Given the description of an element on the screen output the (x, y) to click on. 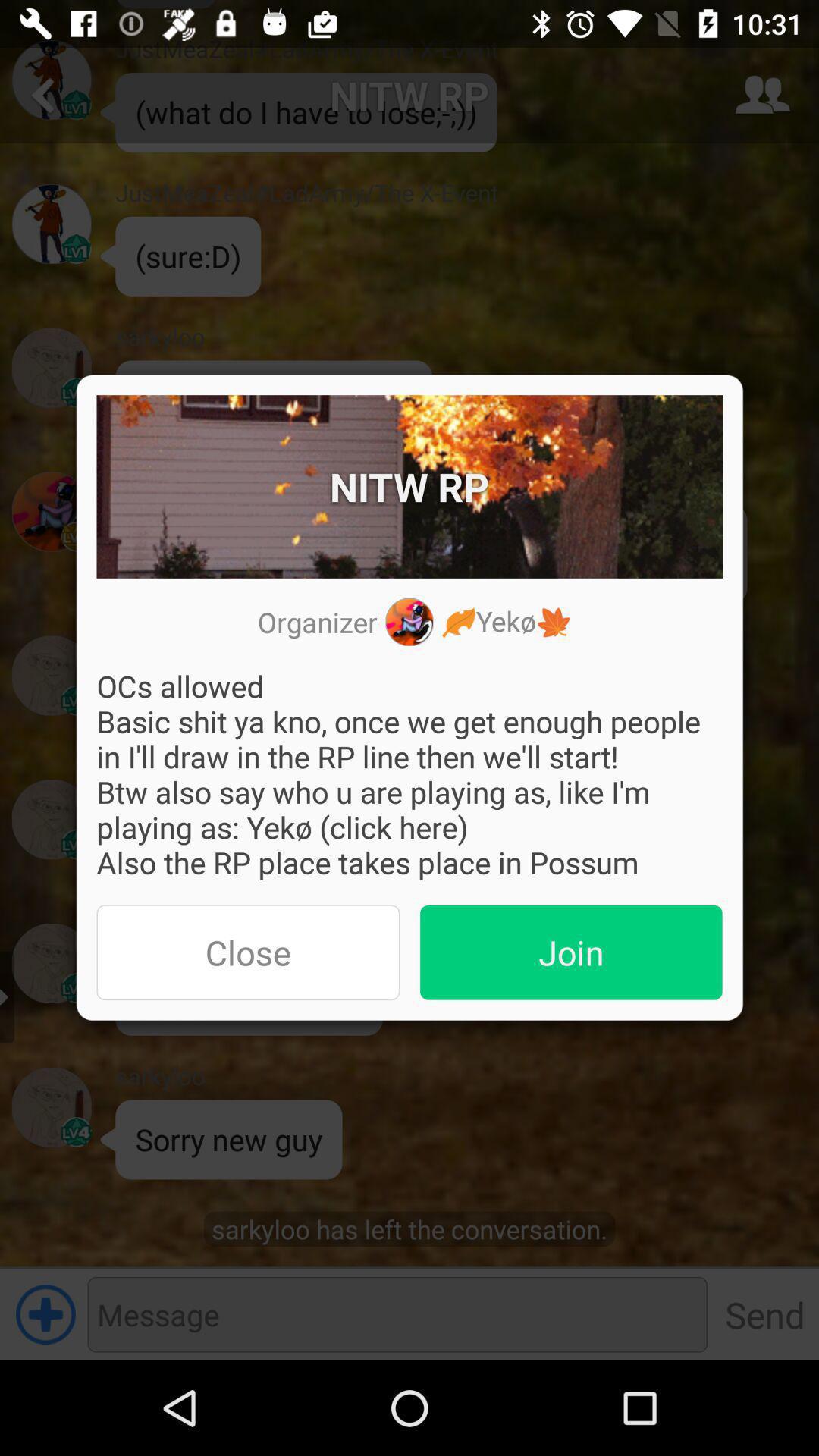
click button next to the join icon (247, 952)
